Given the description of an element on the screen output the (x, y) to click on. 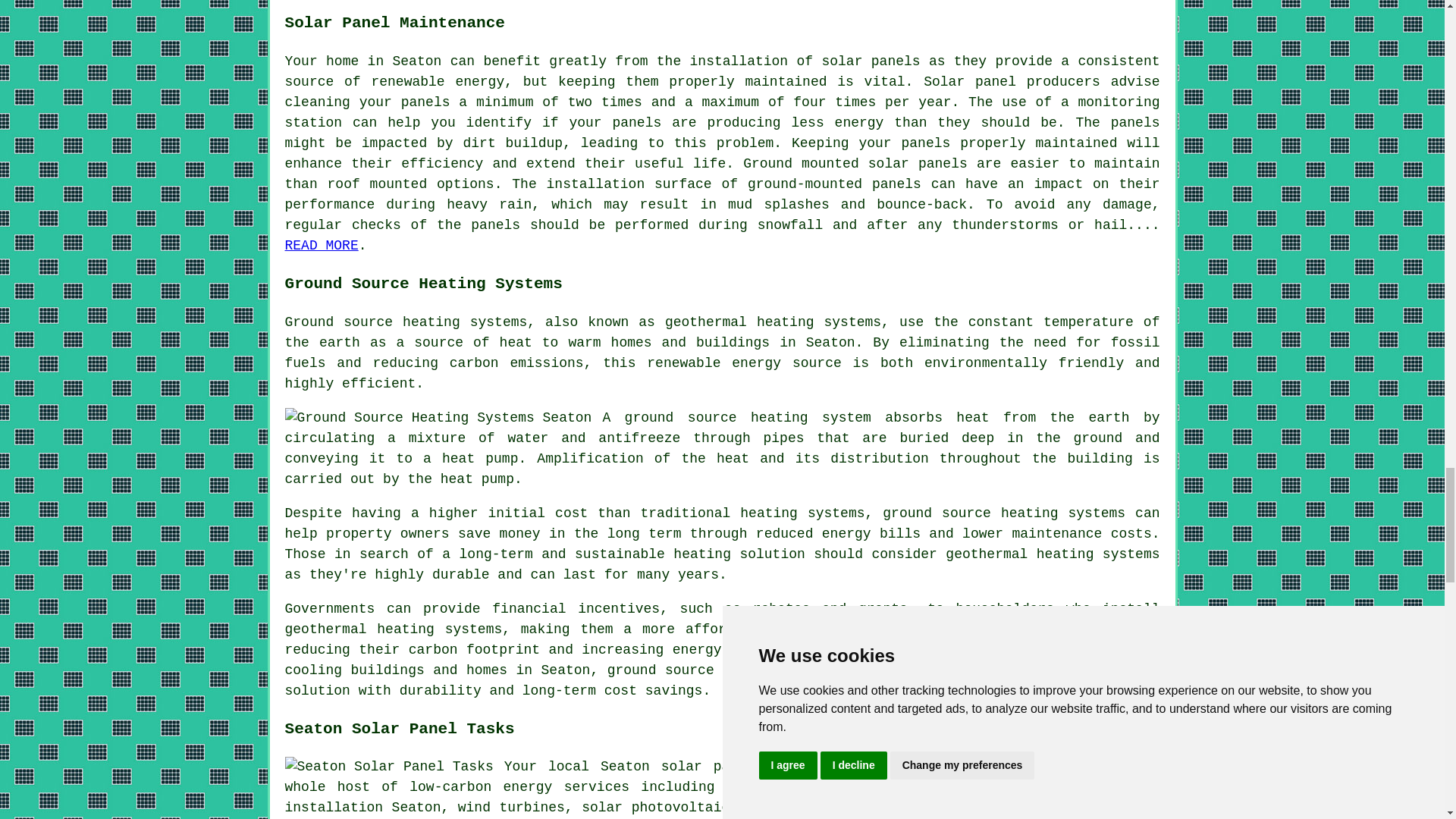
Ground mounted solar panels (855, 163)
Seaton Solar Panel Tasks (389, 766)
solar panel installation (722, 796)
geothermal heating systems (772, 322)
Solar Panel Maintenance (321, 245)
renewable energy (437, 81)
Ground Source Heating Systems Seaton (438, 417)
